Given the description of an element on the screen output the (x, y) to click on. 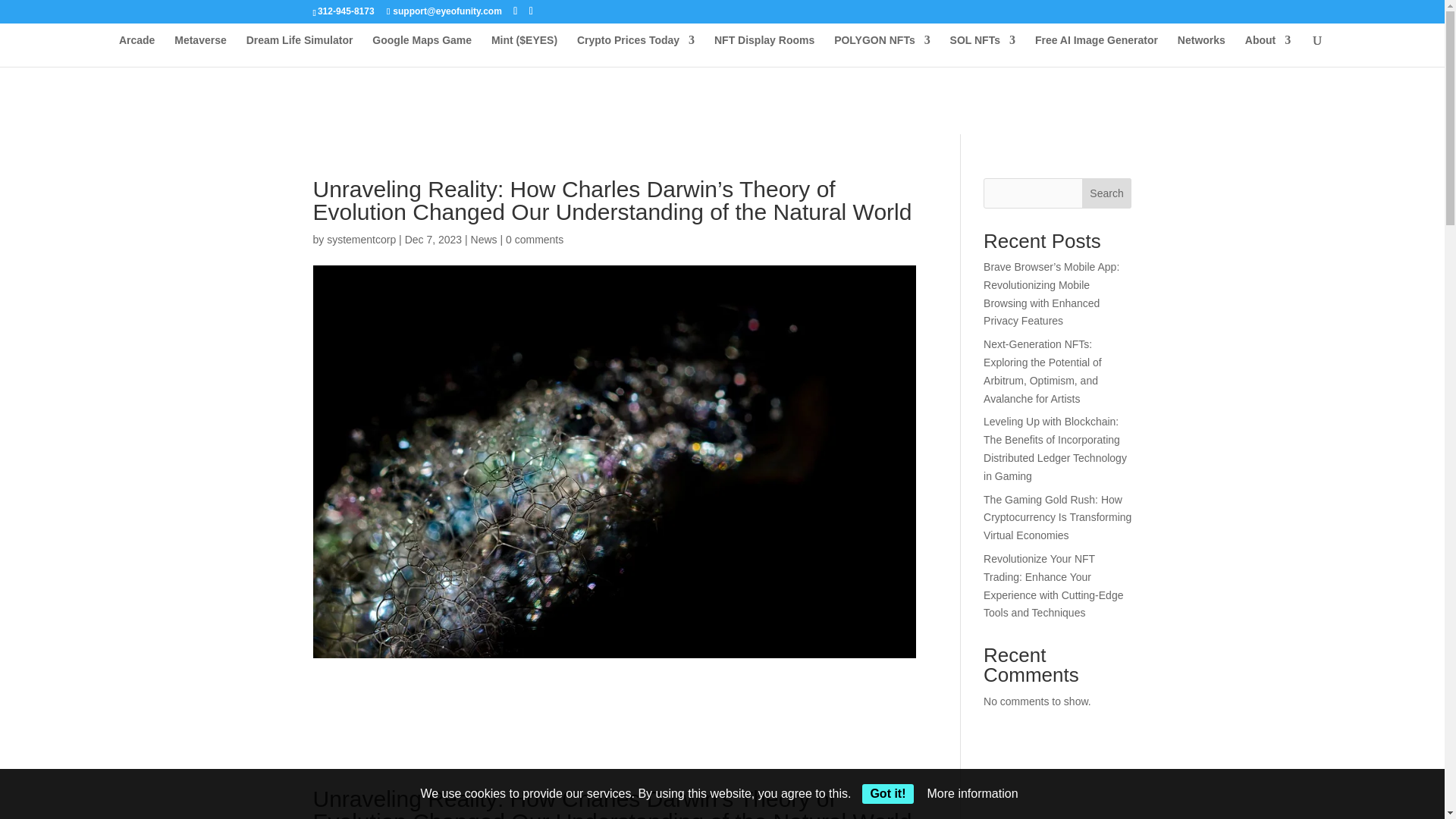
NFT Display Rooms (763, 50)
Networks (1201, 50)
Got it! (886, 793)
Dream Life Simulator (299, 50)
Metaverse (200, 50)
Free AI Image Generator (1096, 50)
About (1267, 50)
Arcade (136, 50)
SOL NFTs (982, 50)
Posts by systementcorp (361, 239)
POLYGON NFTs (882, 50)
More information (972, 793)
Google Maps Game (421, 50)
Crypto Prices Today (635, 50)
